Given the description of an element on the screen output the (x, y) to click on. 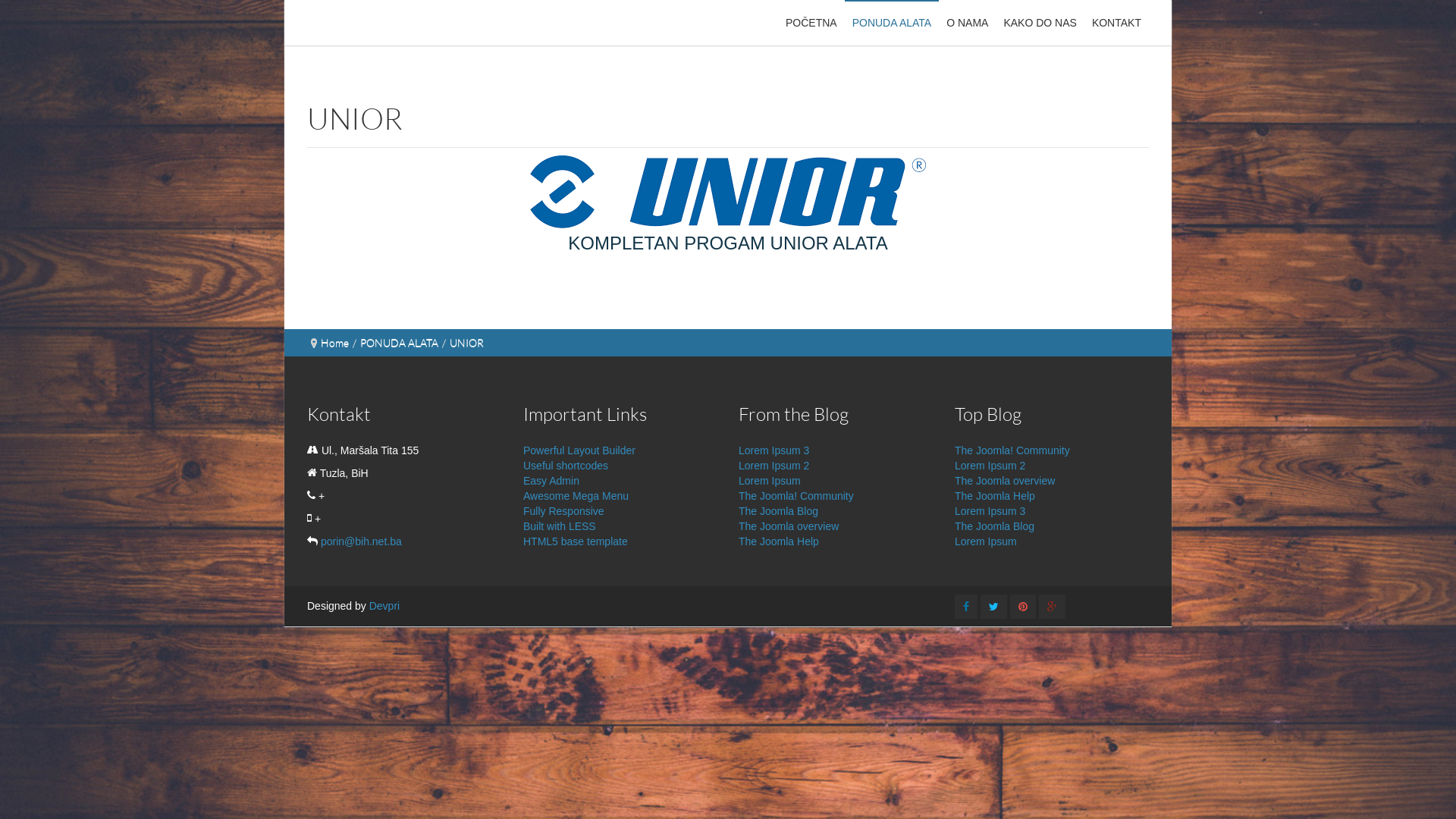
The Joomla Blog Element type: text (994, 525)
The Joomla! Community Element type: text (795, 495)
PONUDA ALATA Element type: text (399, 341)
KOMPLETAN PROGAM UNIOR ALATA Element type: text (727, 245)
Powerful Layout Builder Element type: text (579, 449)
Built with LESS Element type: text (559, 525)
Lorem Ipsum Element type: text (769, 479)
Easy Admin Element type: text (551, 479)
The Joomla Help Element type: text (994, 495)
The Joomla Blog Element type: text (778, 510)
Lorem Ipsum Element type: text (985, 540)
Lorem Ipsum 2 Element type: text (989, 464)
HTML5 base template Element type: text (575, 540)
KAKO DO NAS Element type: text (1039, 22)
The Joomla overview Element type: text (1004, 479)
The Joomla! Community Element type: text (1012, 449)
O NAMA Element type: text (967, 22)
PONUDA ALATA Element type: text (891, 22)
Lorem Ipsum 3 Element type: text (773, 449)
porin@bih.net.ba Element type: text (360, 540)
Lorem Ipsum 3 Element type: text (989, 510)
Devpri Element type: text (384, 605)
Awesome Mega Menu Element type: text (575, 495)
Useful shortcodes Element type: text (565, 464)
KONTAKT Element type: text (1116, 22)
The Joomla overview Element type: text (788, 525)
Home Element type: text (334, 341)
Lorem Ipsum 2 Element type: text (773, 464)
Fully Responsive Element type: text (563, 510)
You are here:  Element type: hover (313, 342)
The Joomla Help Element type: text (778, 540)
